Given the description of an element on the screen output the (x, y) to click on. 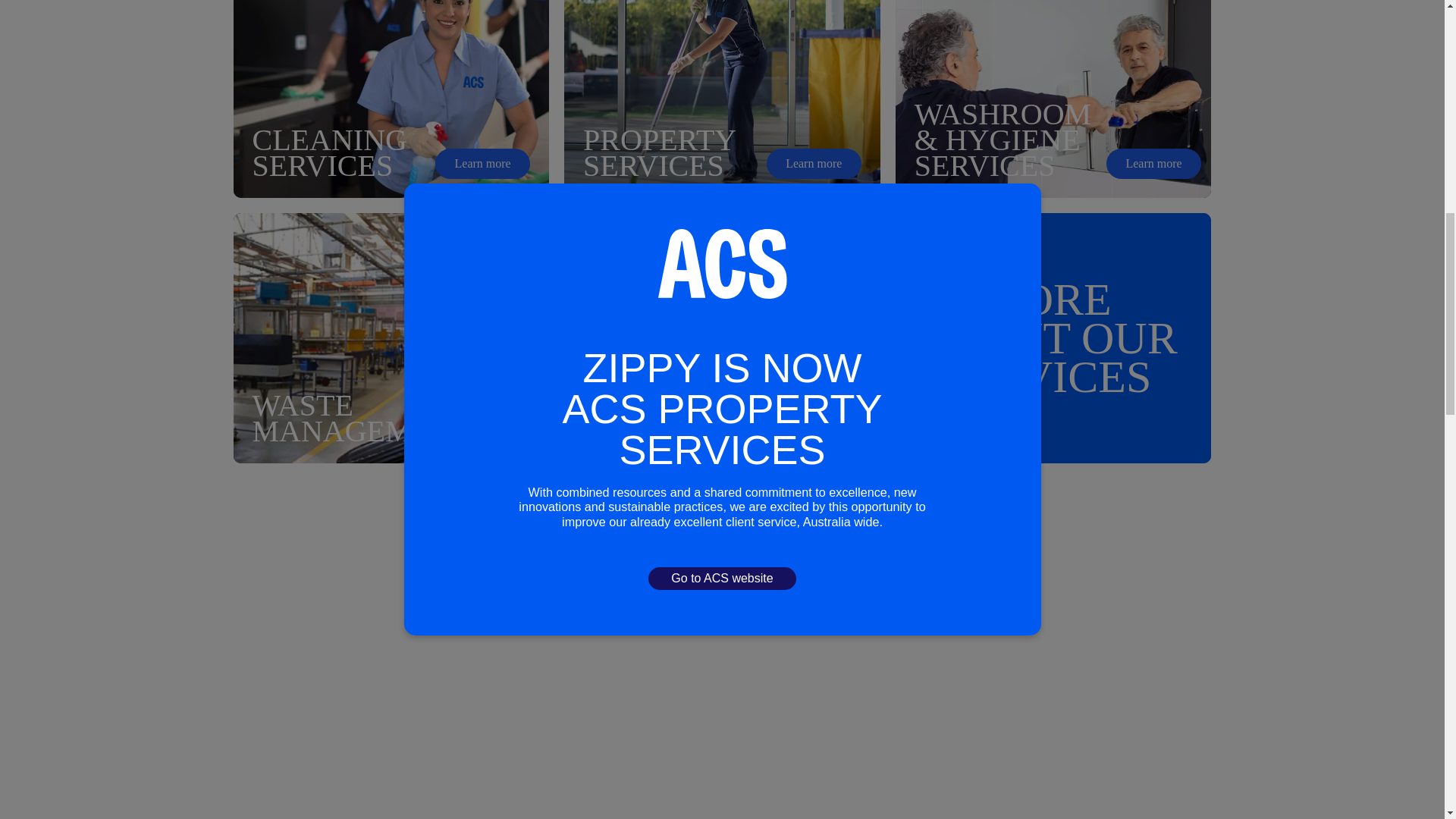
MORE ABOUT OUR SERVICES (391, 337)
